Given the description of an element on the screen output the (x, y) to click on. 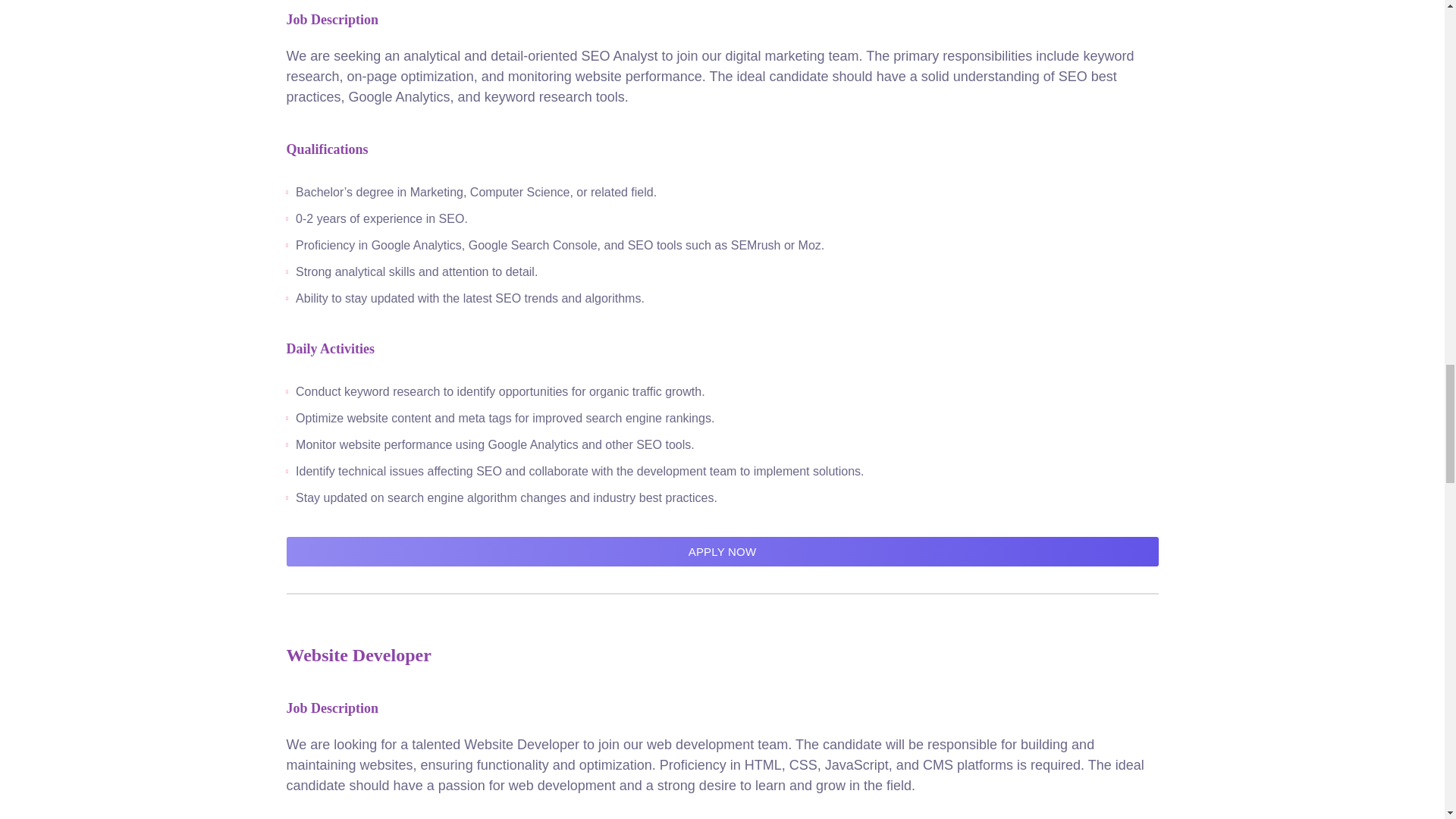
APPLY NOW (722, 551)
